Given the description of an element on the screen output the (x, y) to click on. 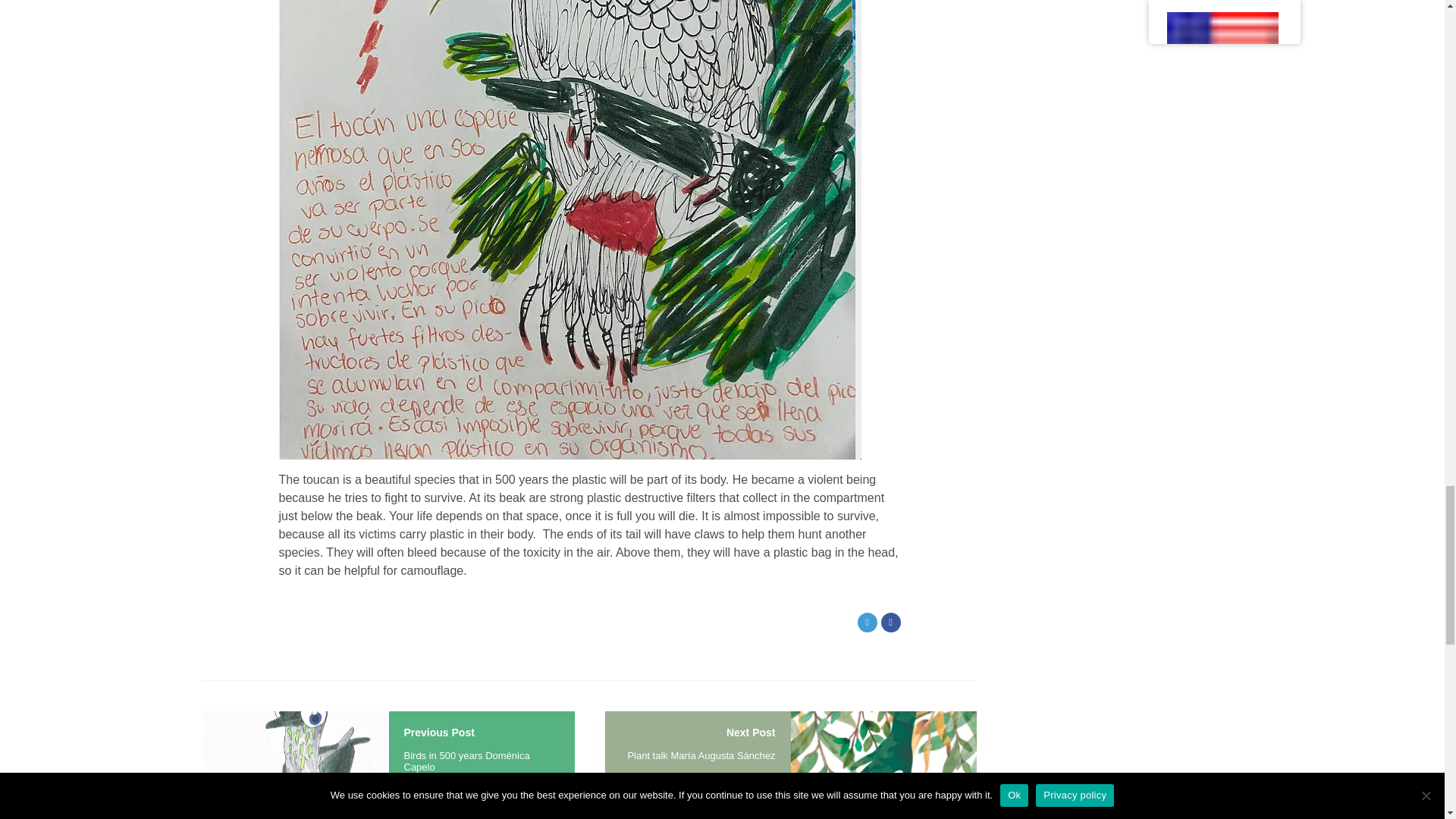
Next Post (751, 732)
Previous Post (438, 732)
